Given the description of an element on the screen output the (x, y) to click on. 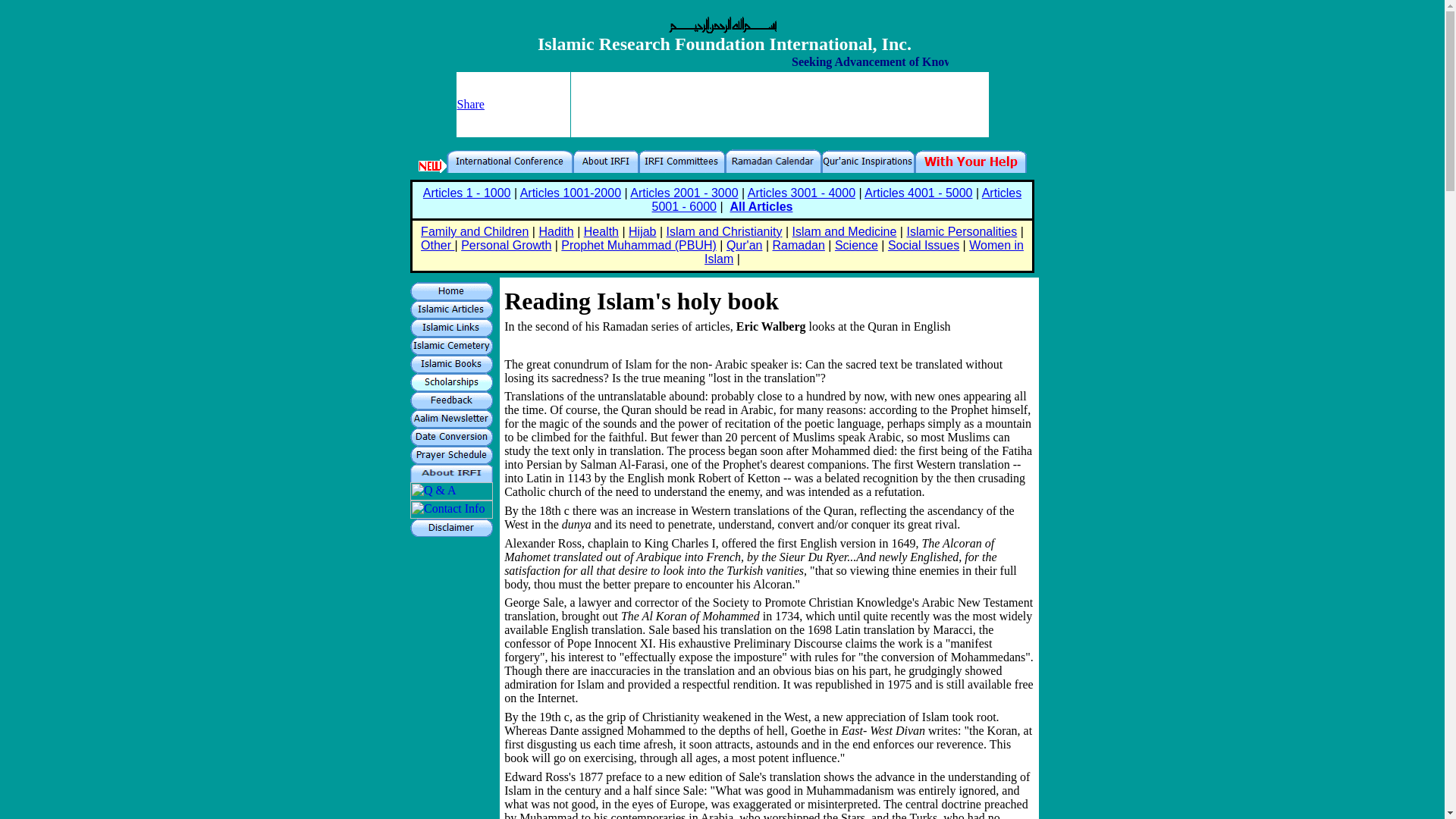
Health (600, 231)
Other (437, 245)
Personal Growth (506, 245)
Islam and Christianity (724, 231)
Ramadan (797, 245)
Share (470, 103)
Science (855, 245)
Articles 1001-2000 (570, 192)
Articles 4001 - 5000 (918, 192)
All Articles (760, 205)
Women in Islam (863, 252)
Islamic Personalities (960, 231)
Articles 1 - 1000 (467, 192)
Family and Children (474, 231)
Qur'an (744, 245)
